Given the description of an element on the screen output the (x, y) to click on. 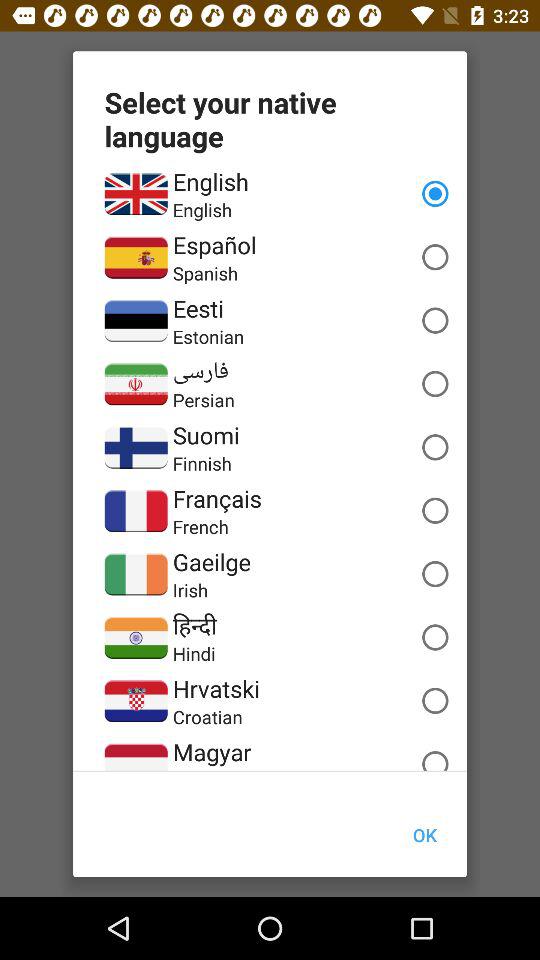
scroll to the french icon (200, 526)
